Given the description of an element on the screen output the (x, y) to click on. 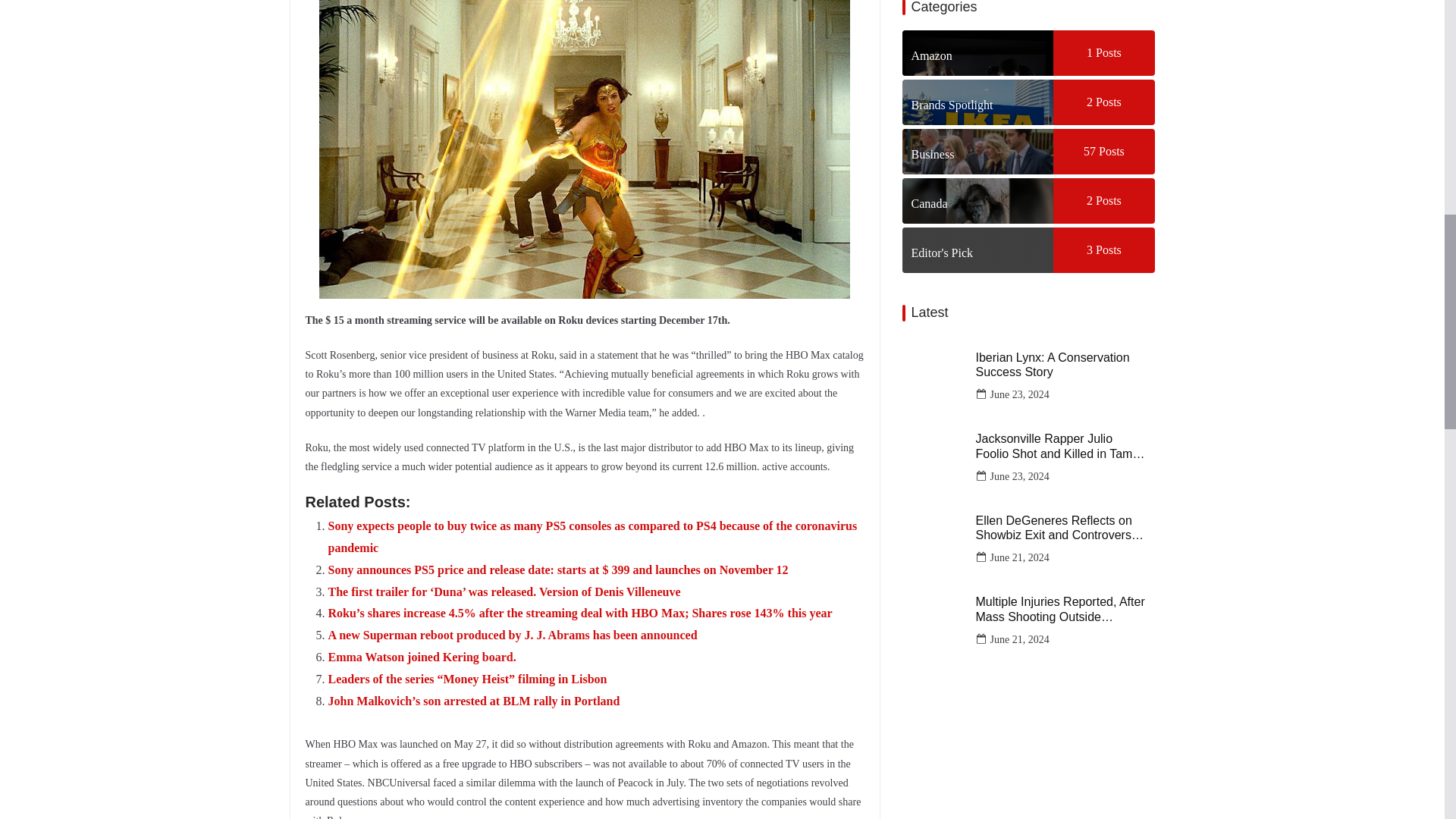
Emma Watson joined Kering board. (421, 656)
